Given the description of an element on the screen output the (x, y) to click on. 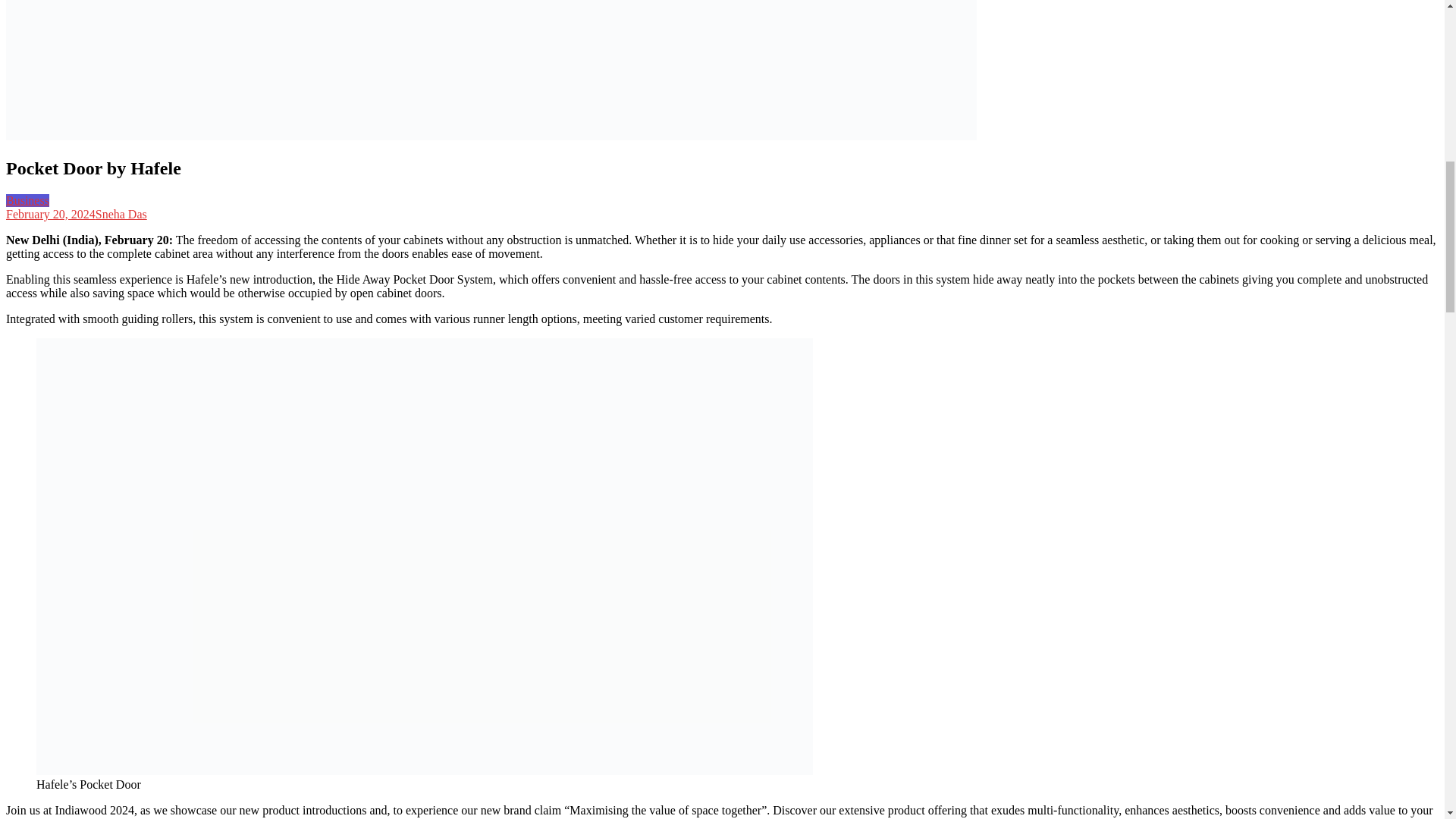
Business (27, 200)
Sneha Das (121, 214)
February 20, 2024 (50, 214)
